Given the description of an element on the screen output the (x, y) to click on. 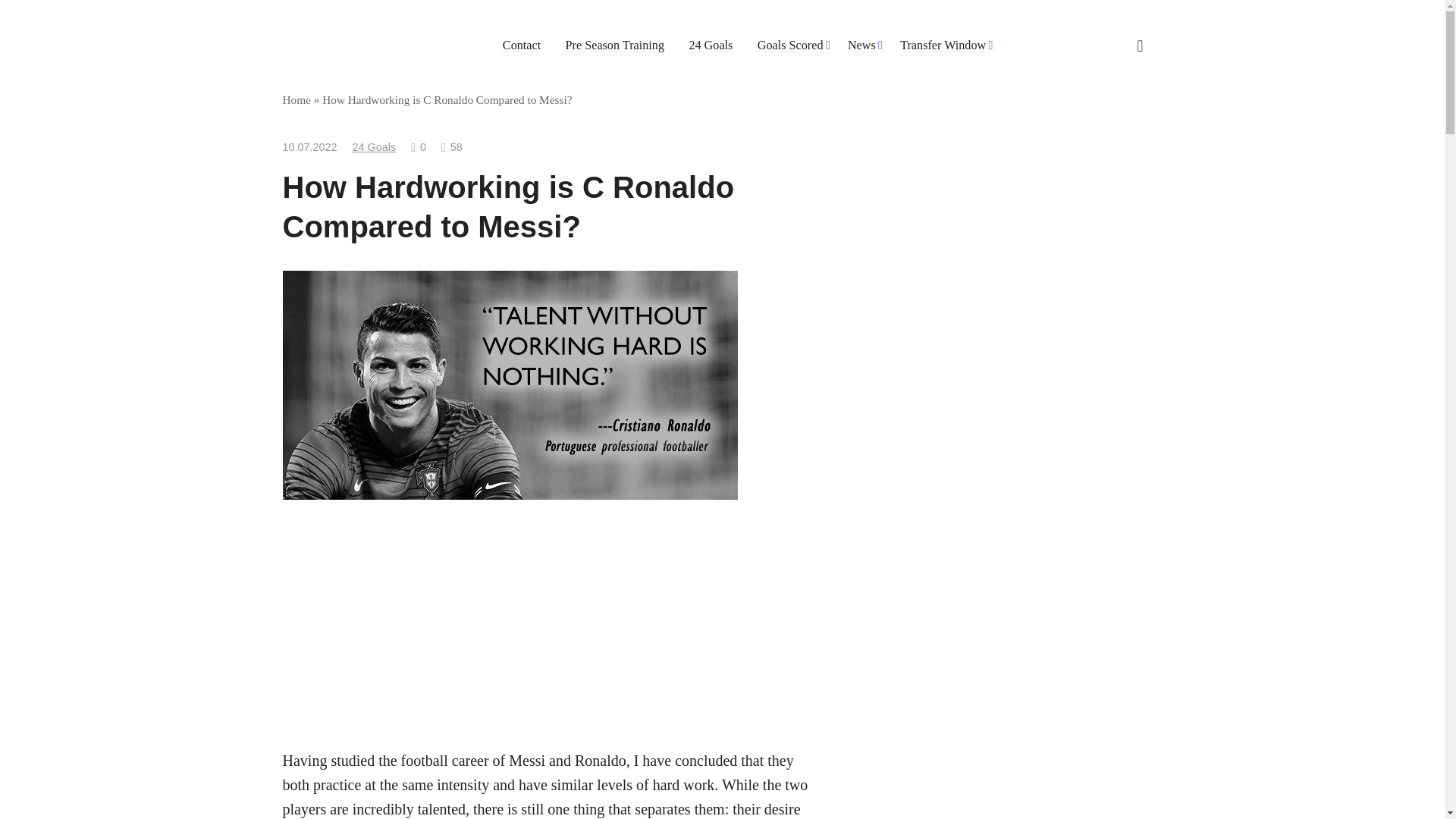
News (861, 45)
Home (296, 99)
Contact (521, 45)
24 Goals (374, 146)
24 Goals (710, 45)
Transfer Window (942, 45)
Goals Scored (790, 45)
Pre Season Training (614, 45)
